Given the description of an element on the screen output the (x, y) to click on. 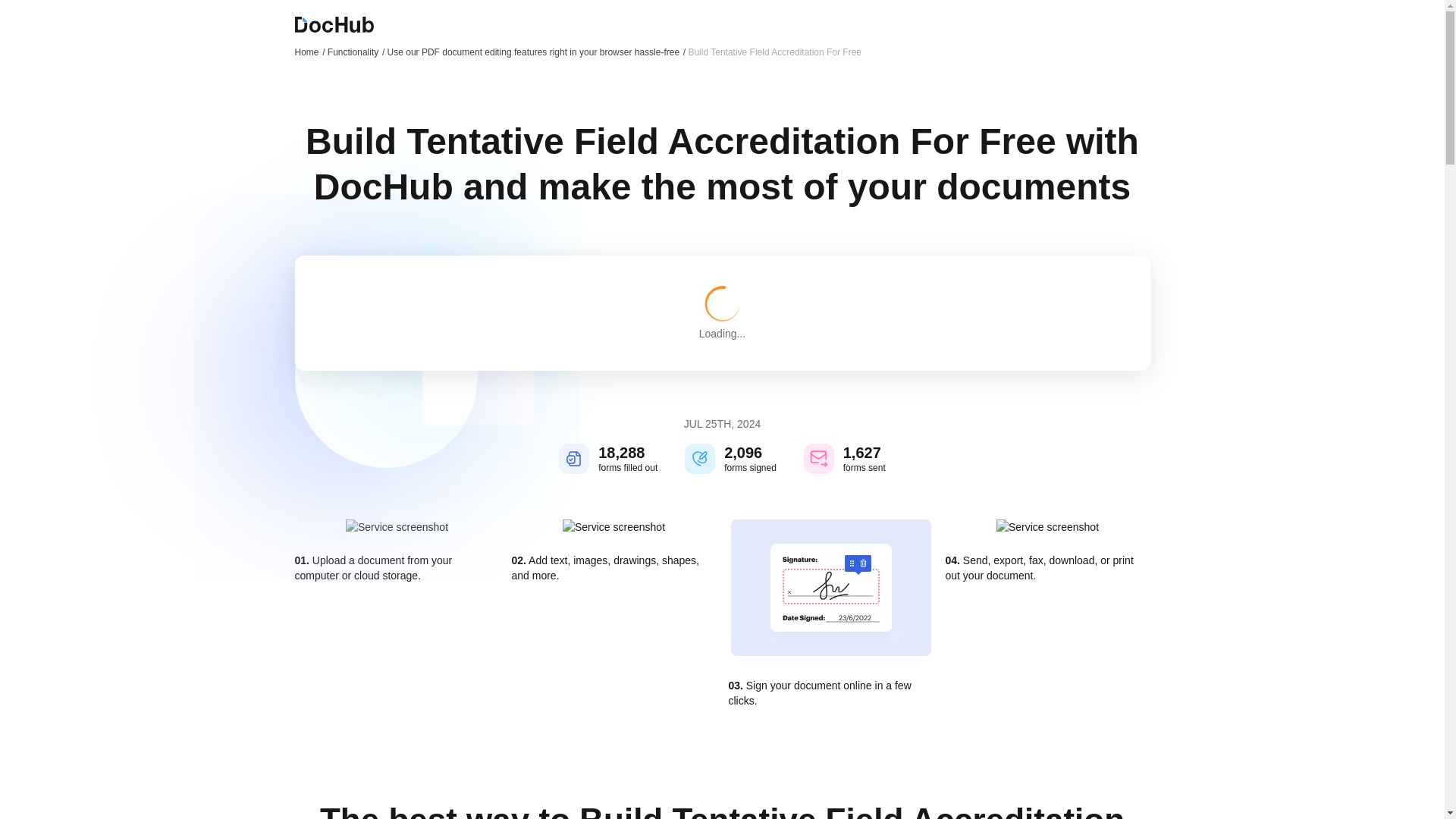
Home (309, 51)
Functionality (355, 51)
